Given the description of an element on the screen output the (x, y) to click on. 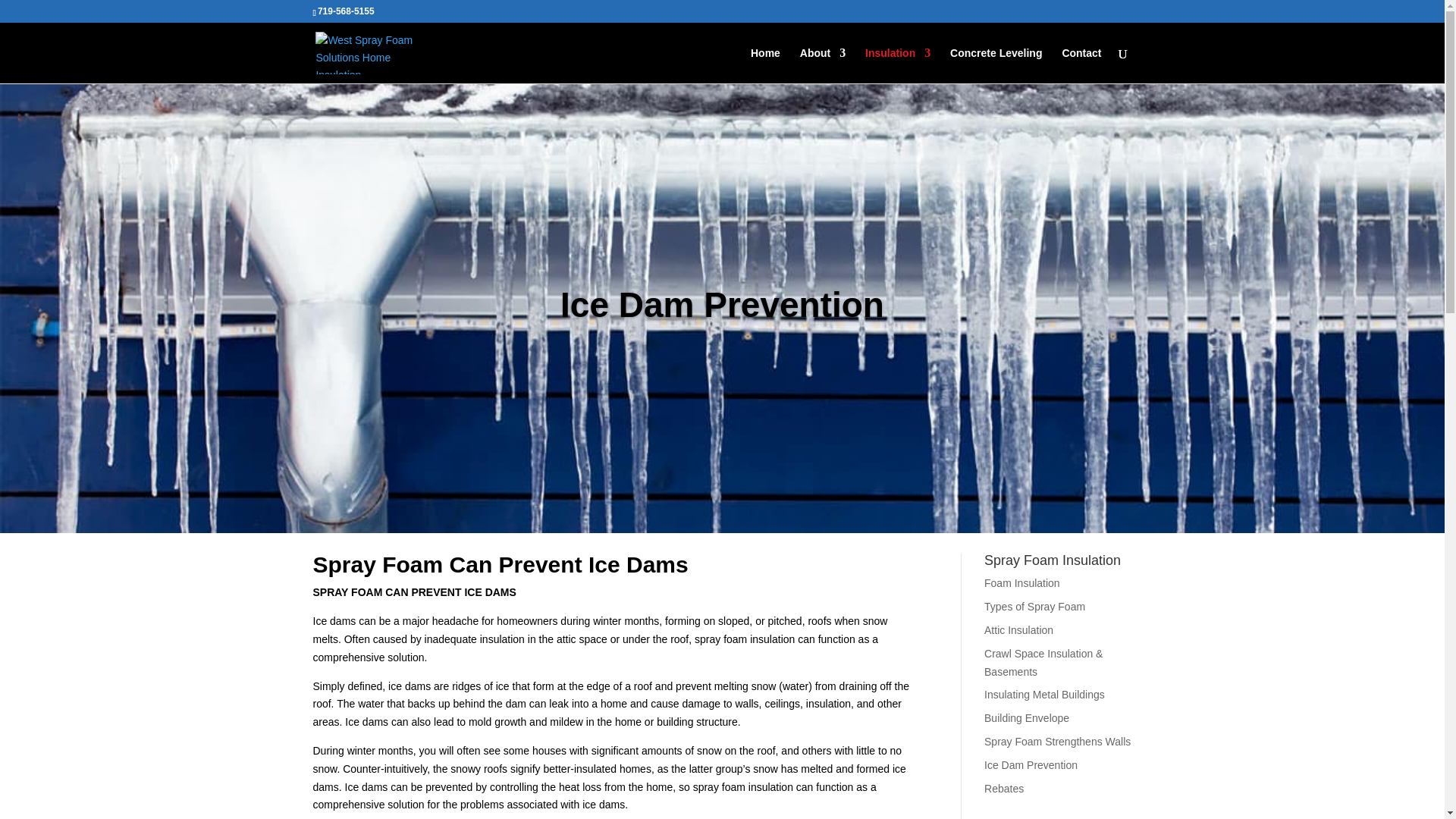
Attic Insulation (1018, 630)
Types of Spray Foam (1034, 606)
Insulating Metal Buildings (1044, 694)
Foam Insulation (1021, 582)
Contact (1080, 65)
Ice Dam Prevention (1030, 765)
Spray Foam Strengthens Walls (1057, 741)
Insulation (897, 65)
Rebates (1003, 788)
Concrete Leveling (996, 65)
About (822, 65)
Building Envelope (1026, 717)
Home (765, 65)
